Given the description of an element on the screen output the (x, y) to click on. 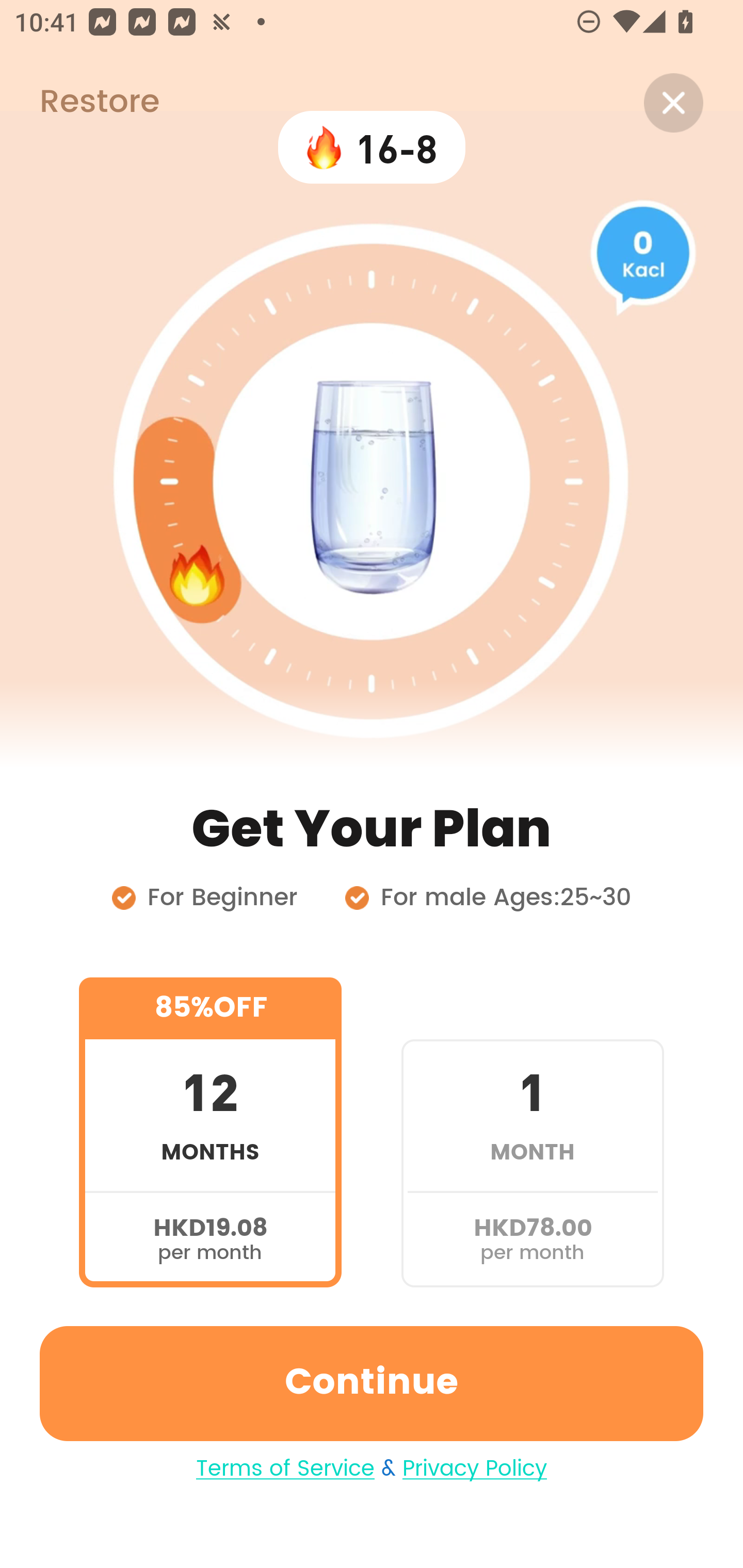
Restore (79, 102)
85%OFF 12 MONTHS per month HKD19.08 (209, 1131)
1 MONTH per month HKD78.00 (532, 1131)
Continue (371, 1383)
